Given the description of an element on the screen output the (x, y) to click on. 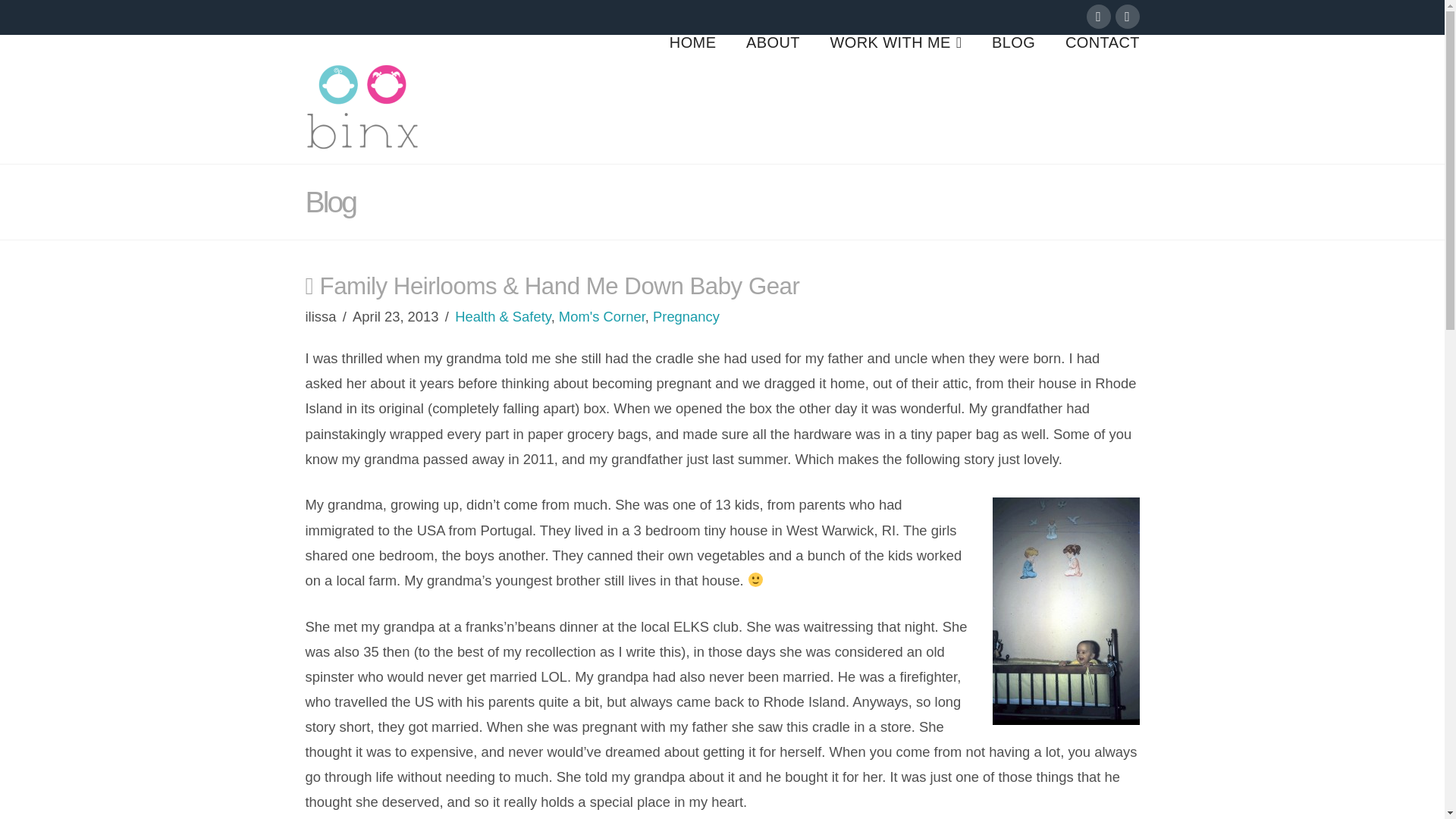
WORK WITH ME (895, 95)
Pregnancy (685, 316)
Mom's Corner (602, 316)
Instagram (1126, 16)
Facebook (1097, 16)
